Given the description of an element on the screen output the (x, y) to click on. 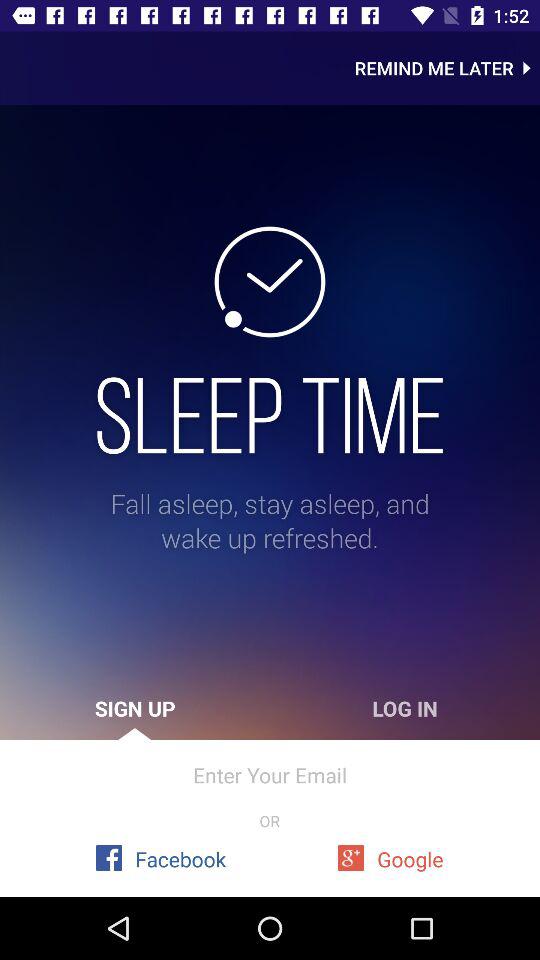
select item to the right of sign up (405, 707)
